Given the description of an element on the screen output the (x, y) to click on. 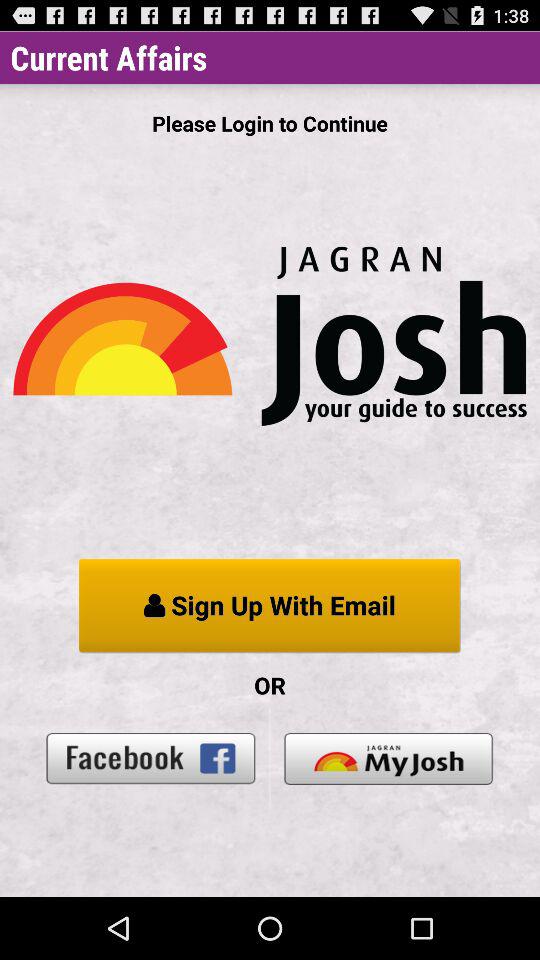
turn on the item at the bottom left corner (151, 758)
